Given the description of an element on the screen output the (x, y) to click on. 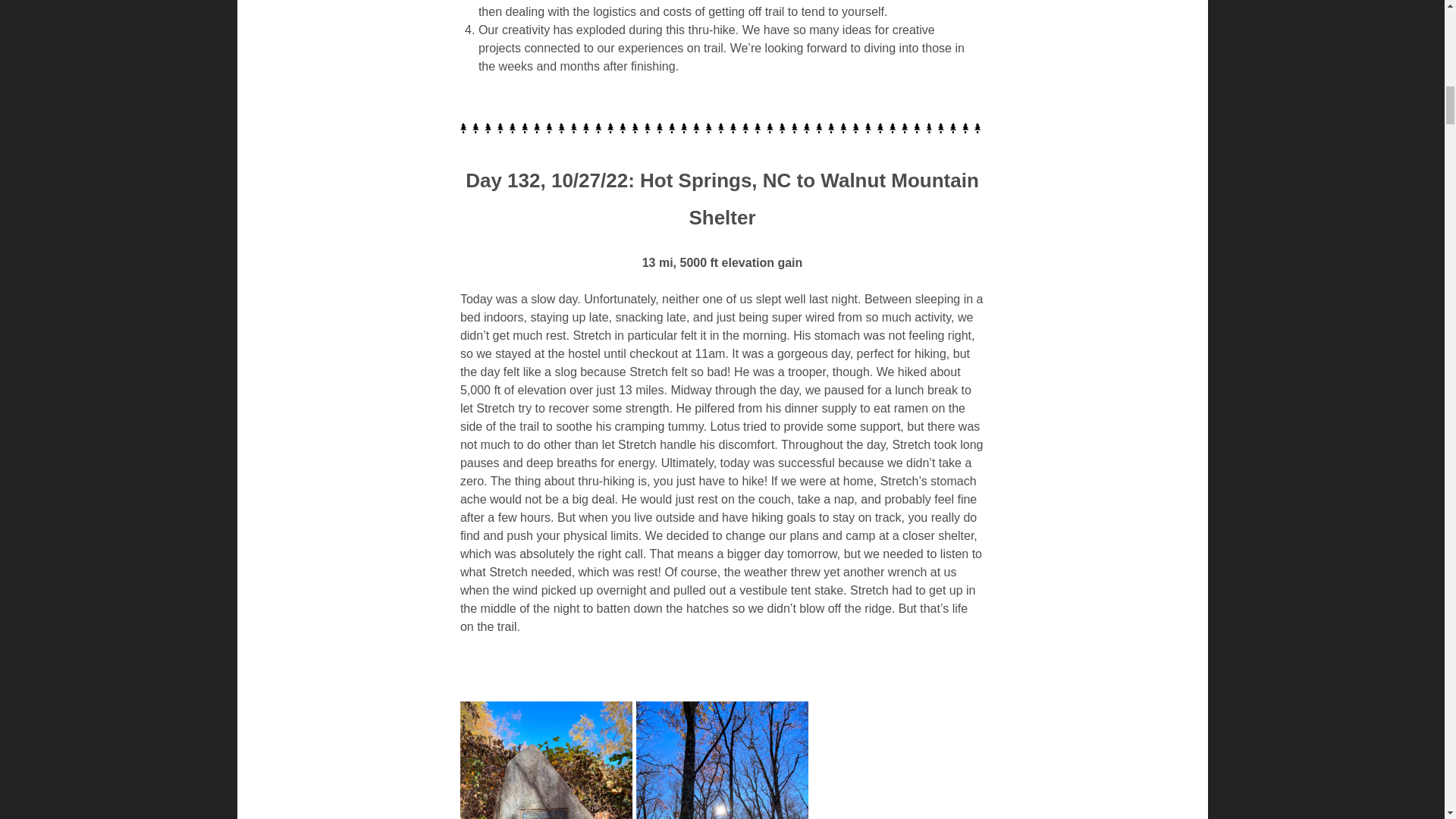
AT Post TN-NC Part 2-01 (545, 760)
AT Post TN-NC Part 2-02 (722, 760)
